Given the description of an element on the screen output the (x, y) to click on. 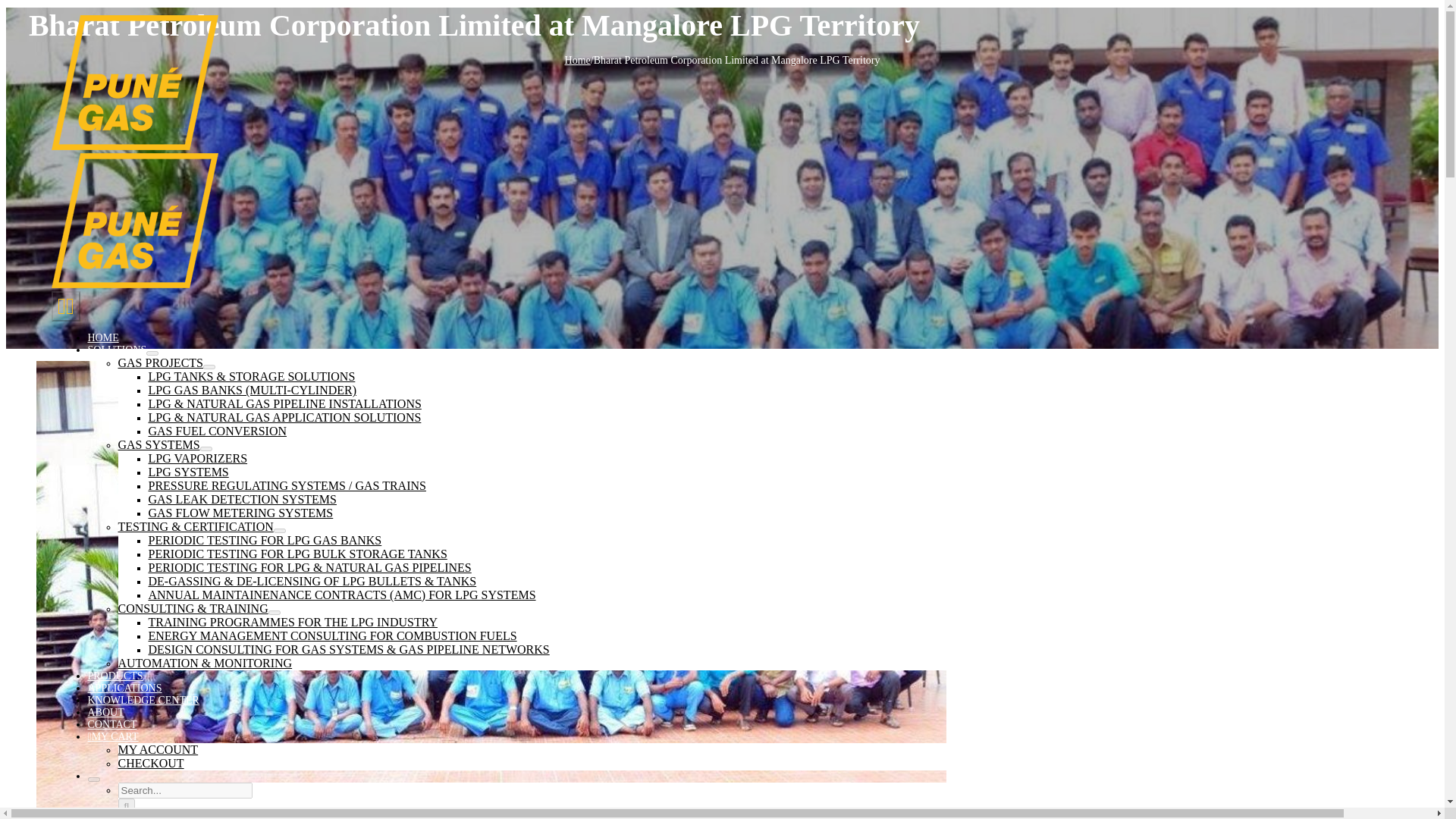
APPLICATIONS (124, 687)
SOLUTIONS (117, 349)
GAS PROJECTS (160, 362)
PRODUCTS (114, 675)
HOME (103, 337)
Toggle Navigation (65, 306)
GAS FLOW METERING SYSTEMS (240, 512)
LPG SYSTEMS (188, 472)
KNOWLEDGE CENTER (143, 699)
TRAINING PROGRAMMES FOR THE LPG INDUSTRY (293, 621)
CONTACT (111, 724)
ABOUT (105, 712)
LPG VAPORIZERS (197, 458)
GAS FUEL CONVERSION (217, 431)
